Given the description of an element on the screen output the (x, y) to click on. 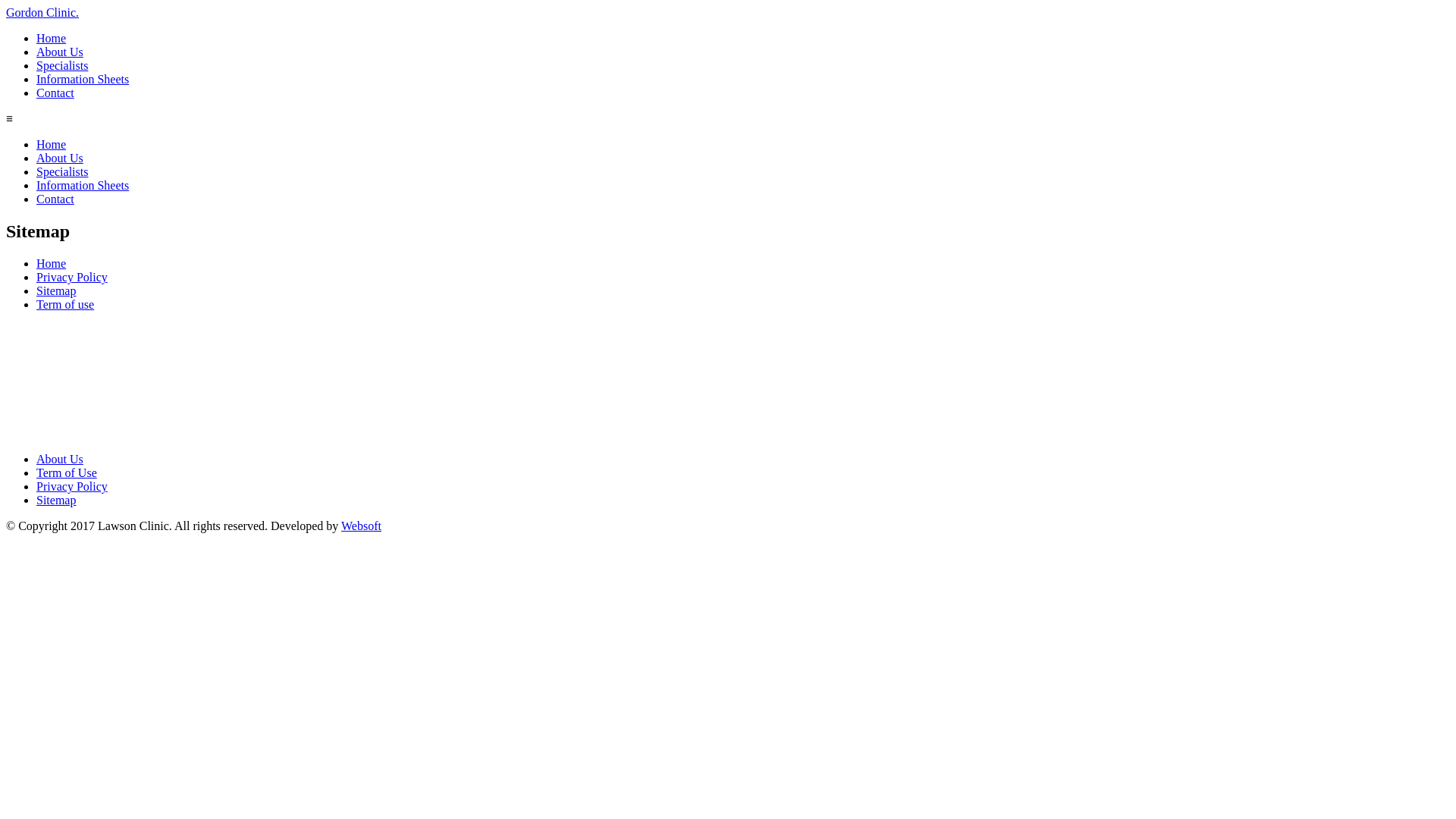
Contact Element type: text (55, 92)
Specialists Element type: text (61, 65)
Websoft Element type: text (361, 525)
Sitemap Element type: text (55, 290)
Sitemap Element type: text (55, 499)
Privacy Policy Element type: text (71, 276)
Contact Element type: text (55, 198)
Home Element type: text (50, 37)
About Us Element type: text (59, 51)
Home Element type: text (50, 144)
Gordon Clinic. Element type: text (42, 12)
Term of Use Element type: text (66, 472)
Privacy Policy Element type: text (71, 486)
Specialists Element type: text (61, 171)
Home Element type: text (50, 263)
Information Sheets Element type: text (82, 184)
Information Sheets Element type: text (82, 78)
About Us Element type: text (59, 458)
Term of use Element type: text (65, 304)
About Us Element type: text (59, 157)
